Given the description of an element on the screen output the (x, y) to click on. 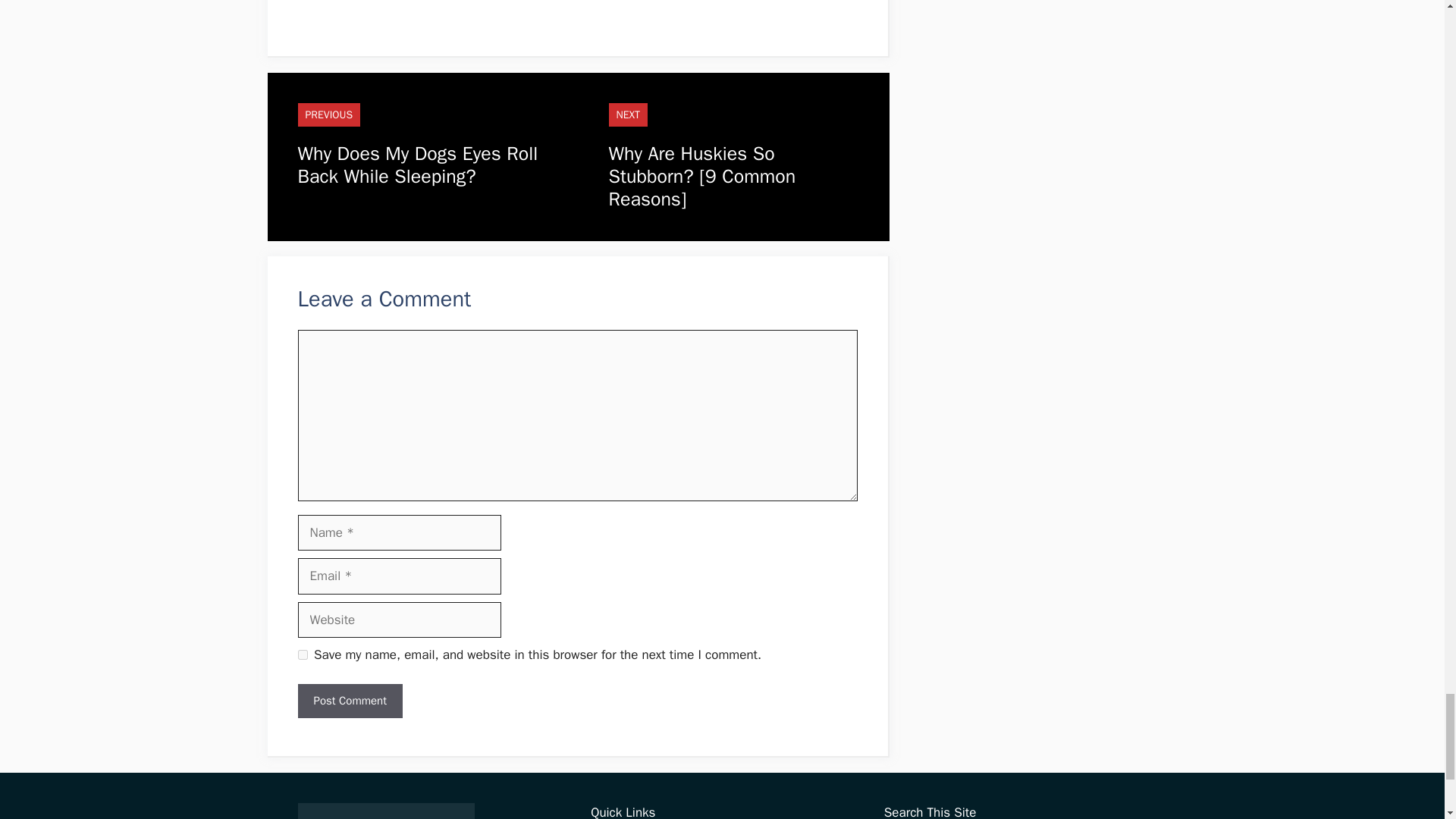
Post Comment (349, 700)
yes (302, 655)
